Given the description of an element on the screen output the (x, y) to click on. 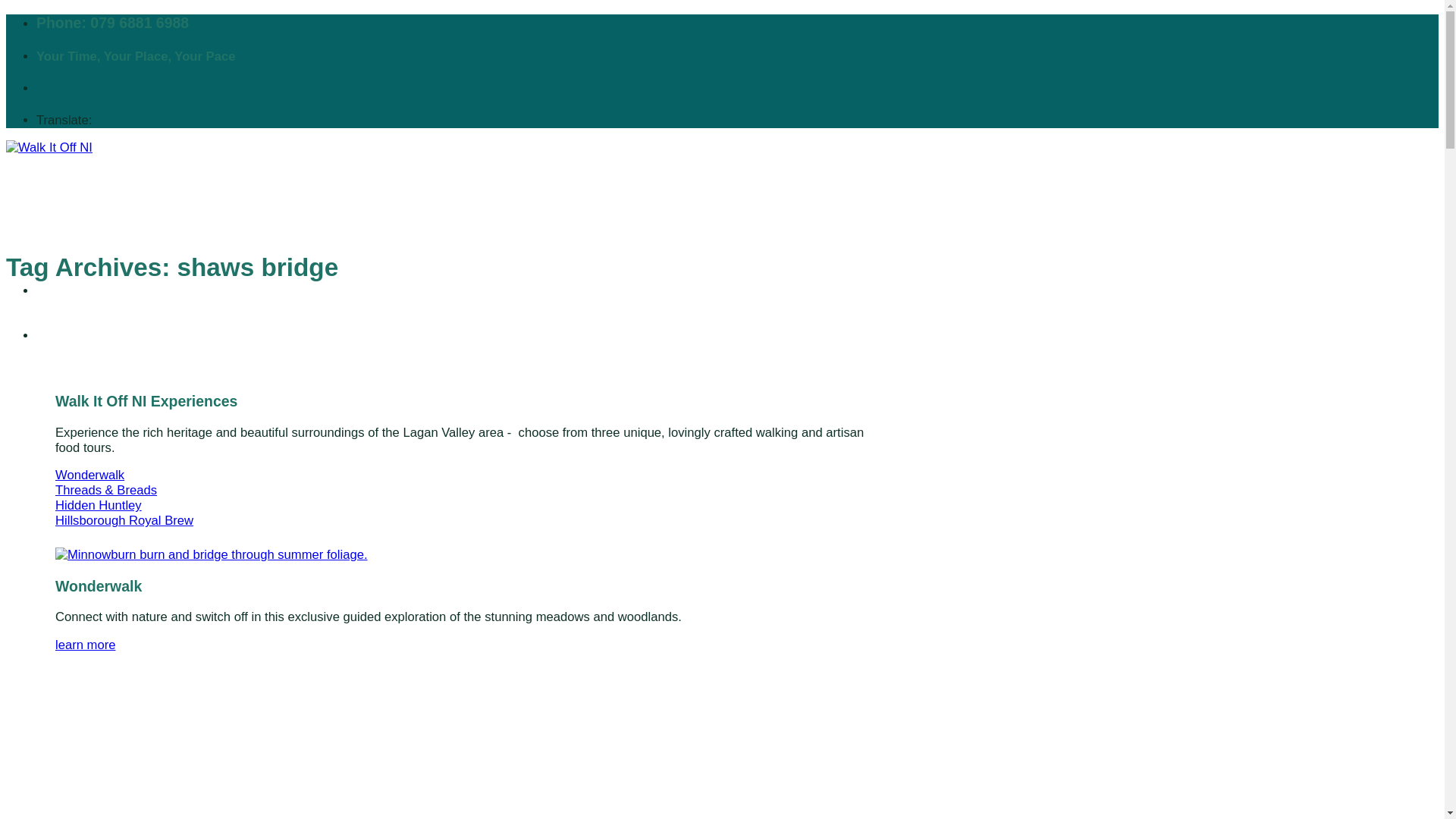
Hidden Huntley (98, 504)
Walk It Off NI - Your Time, Your Place, Your Pace (366, 196)
learn more (85, 644)
Wonderwalk (89, 474)
Hillsborough Royal Brew (124, 520)
Experiences (73, 335)
